Given the description of an element on the screen output the (x, y) to click on. 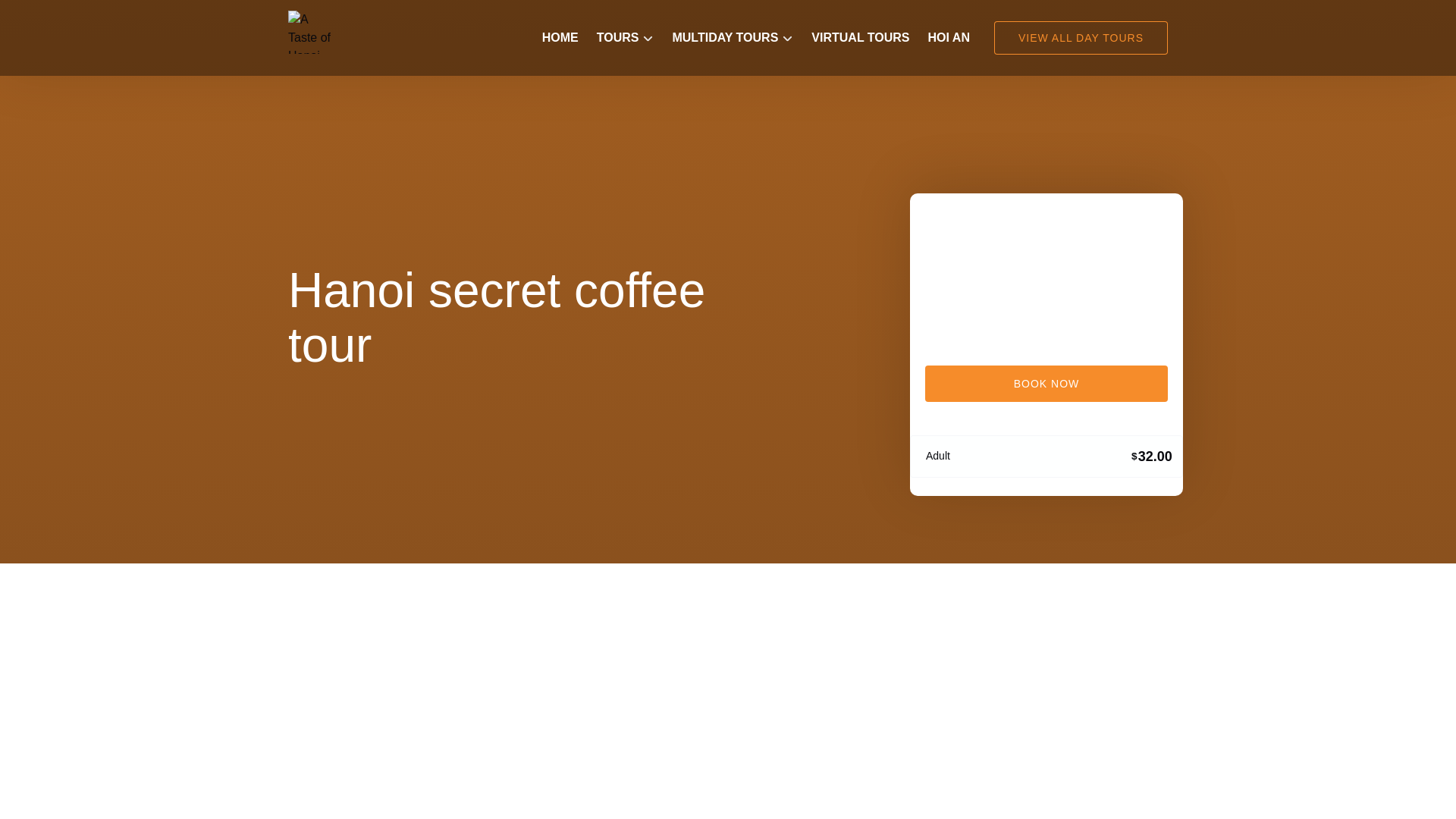
VIEW ALL DAY TOURS (1080, 37)
BOOK NOW (1045, 383)
HOI AN (948, 37)
Open Tours Menu (629, 33)
Skip to primary navigation (77, 16)
TOURS (625, 37)
MULTIDAY TOURS (732, 37)
Skip to content (47, 16)
HOME (560, 37)
VIRTUAL TOURS (860, 37)
Open Multiday Tours Menu (729, 28)
Skip to footer (42, 16)
